Given the description of an element on the screen output the (x, y) to click on. 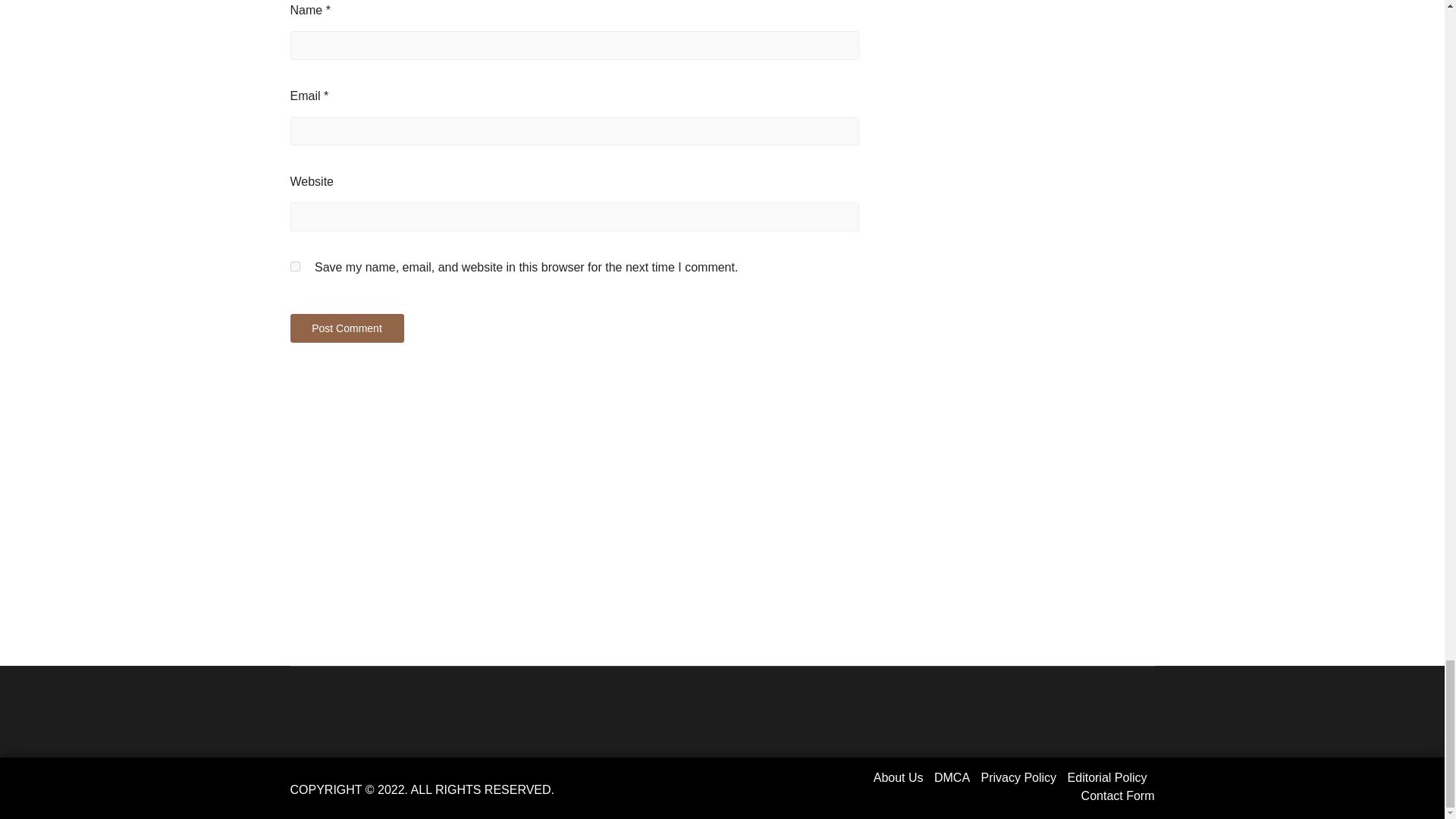
Post Comment (346, 328)
yes (294, 266)
Post Comment (346, 328)
